Given the description of an element on the screen output the (x, y) to click on. 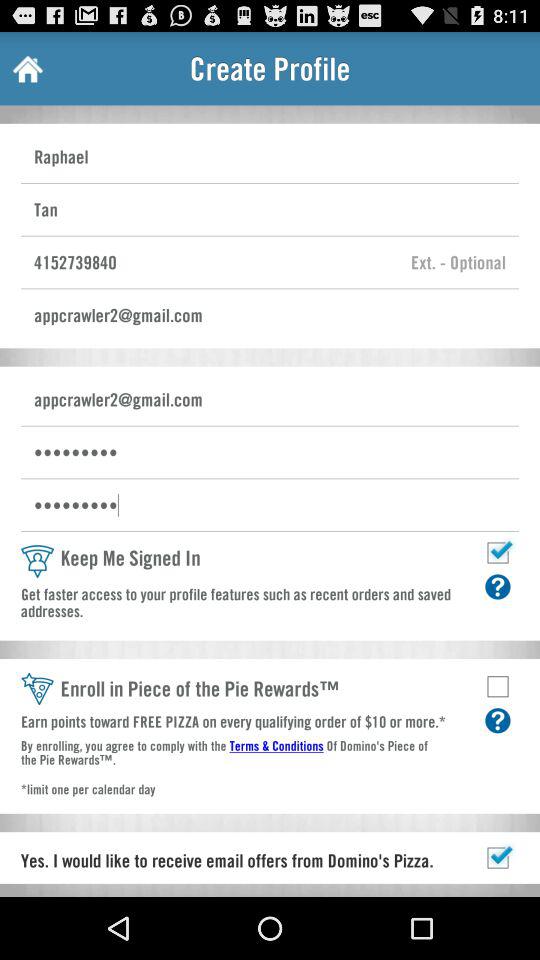
details about rewards (497, 720)
